Given the description of an element on the screen output the (x, y) to click on. 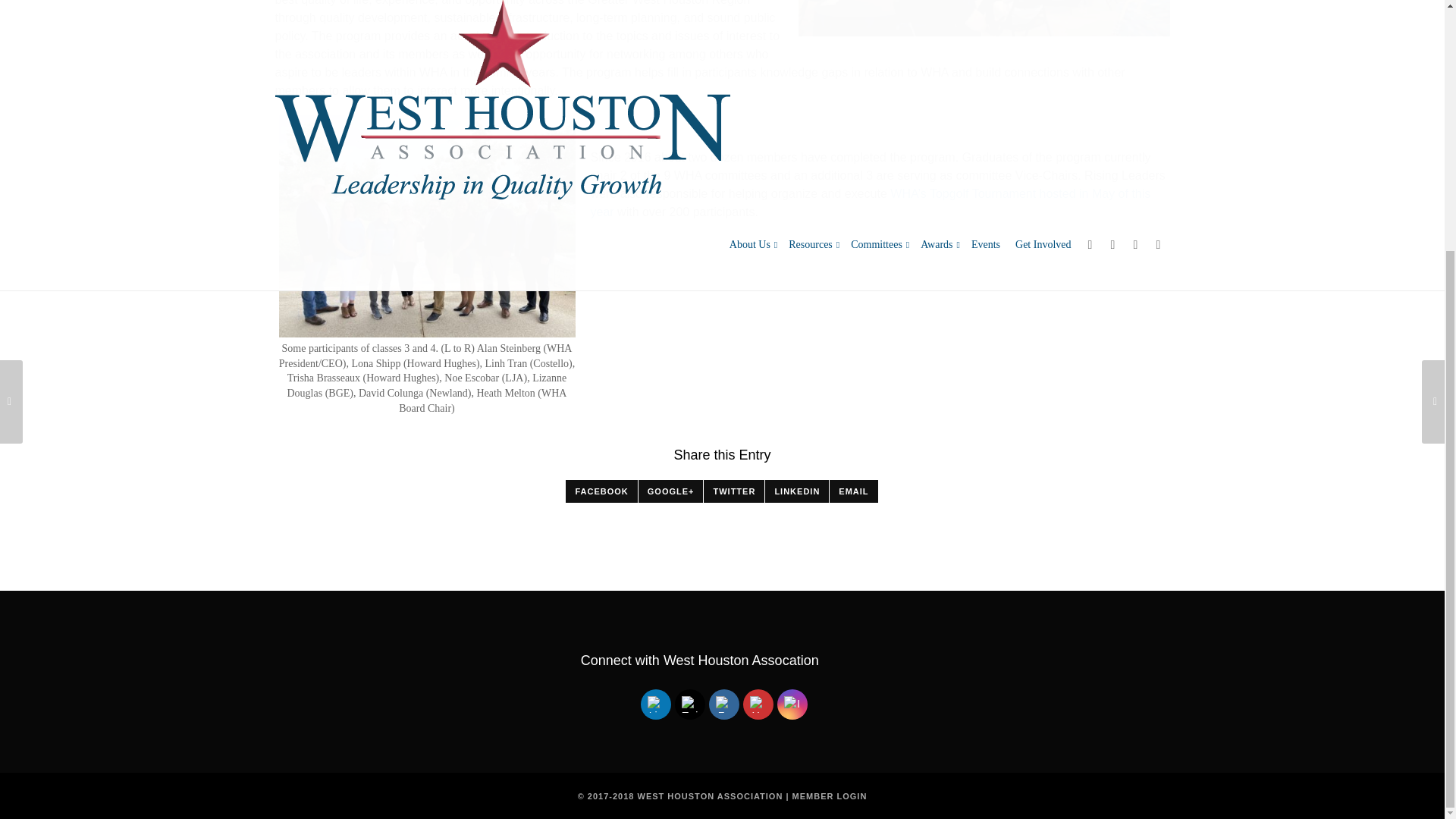
Tweet this Entry on Twitter (733, 490)
Share this Entry on Facebook (601, 490)
Share this Entry via Email (853, 490)
LinkedIn (655, 704)
Share this Entry on LinkedIn (796, 490)
